Given the description of an element on the screen output the (x, y) to click on. 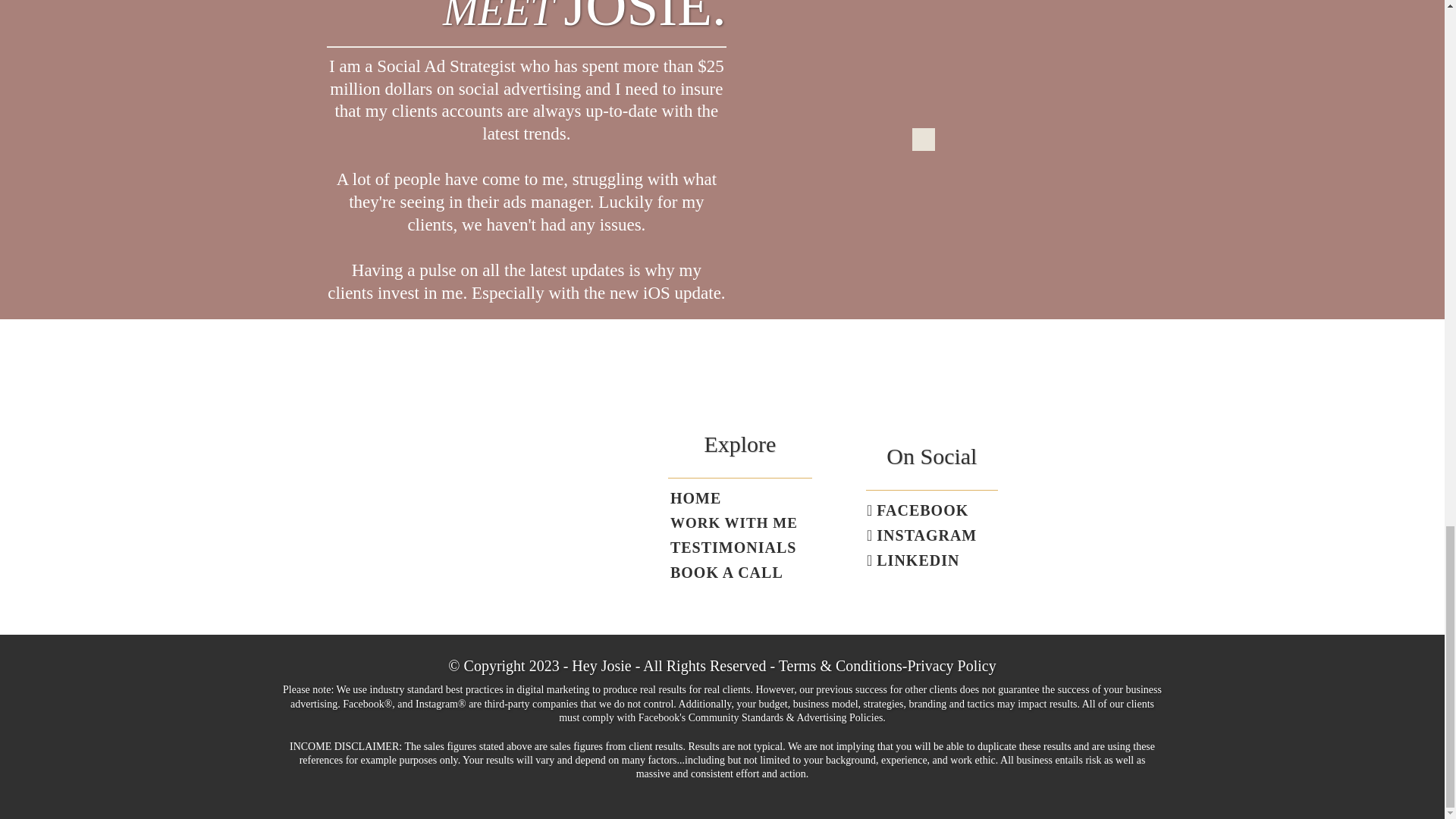
WORK WITH ME (733, 523)
BOOK A CALL (726, 572)
INSTAGRAM (923, 535)
TESTIMONIALS (733, 547)
LINKEDIN (914, 560)
FACEBOOK (919, 510)
Privacy Policy (951, 665)
HOME (695, 498)
